Given the description of an element on the screen output the (x, y) to click on. 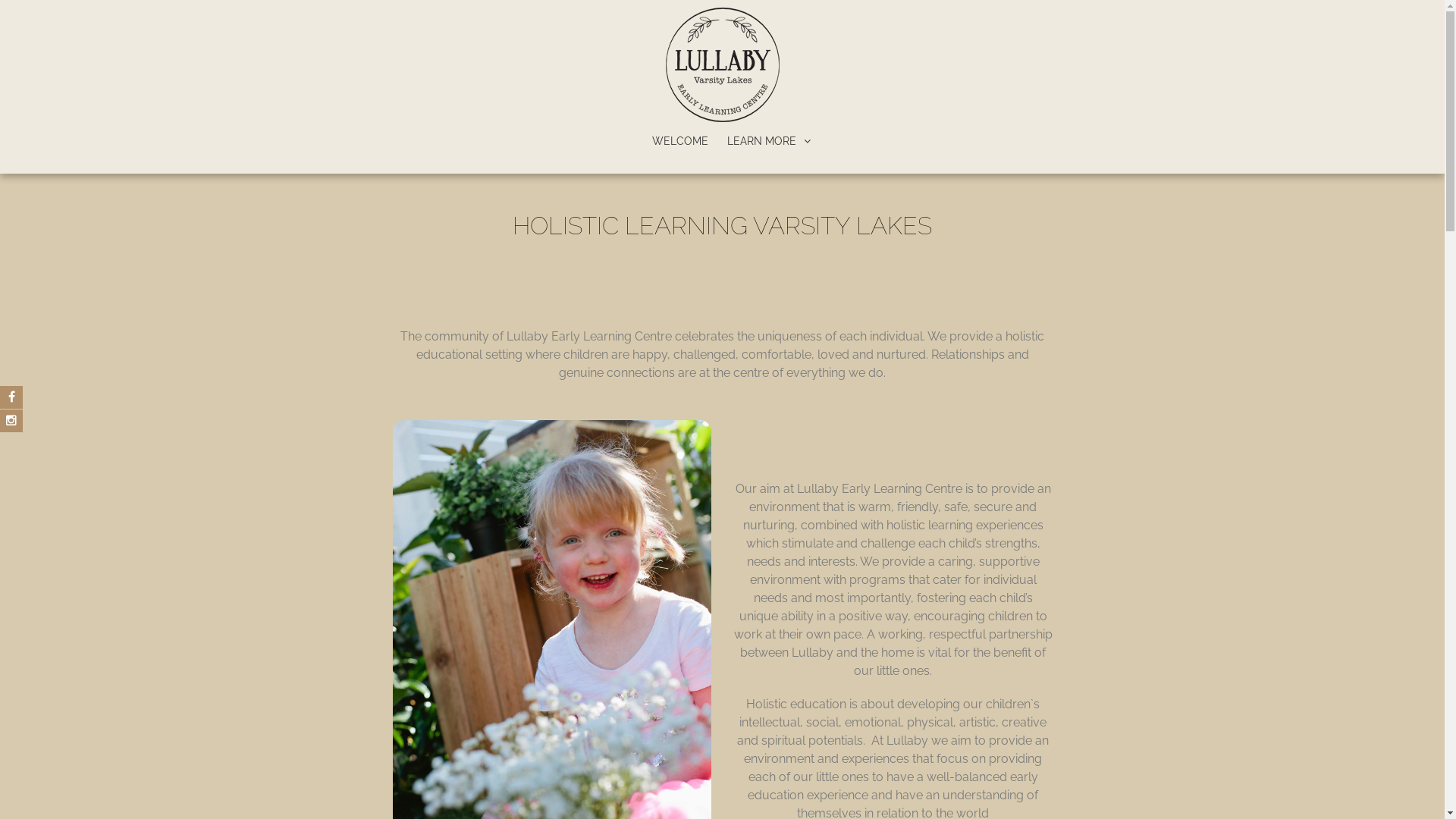
WELCOME Element type: text (680, 141)
LEARN MORE Element type: text (769, 141)
